Given the description of an element on the screen output the (x, y) to click on. 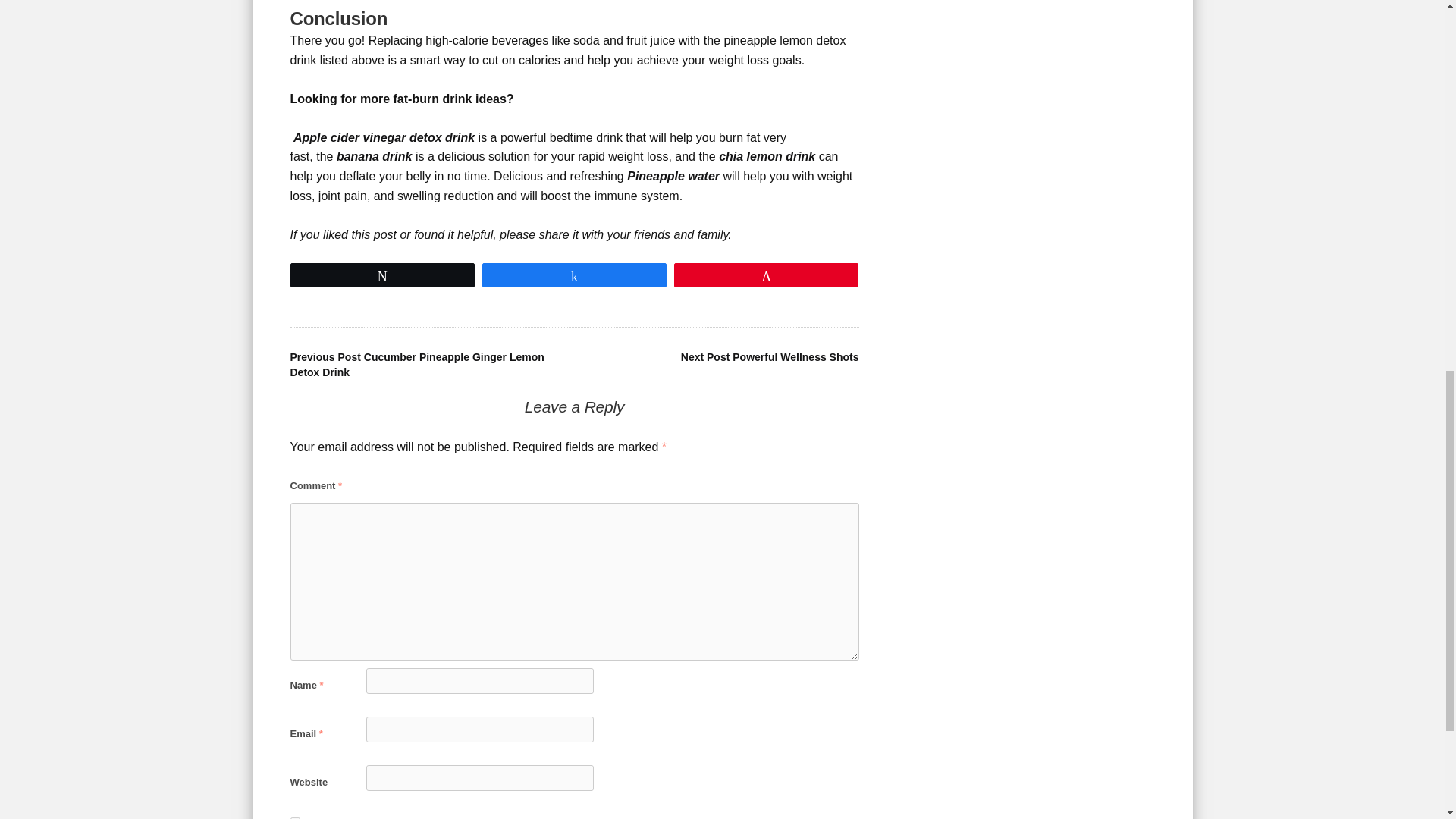
Pineapple water (673, 175)
Apple cider vinegar detox drink (384, 137)
Next Post Powerful Wellness Shots (770, 357)
Previous Post Cucumber Pineapple Ginger Lemon Detox Drink (416, 364)
banana drink (374, 155)
chia lemon drink (767, 155)
